Given the description of an element on the screen output the (x, y) to click on. 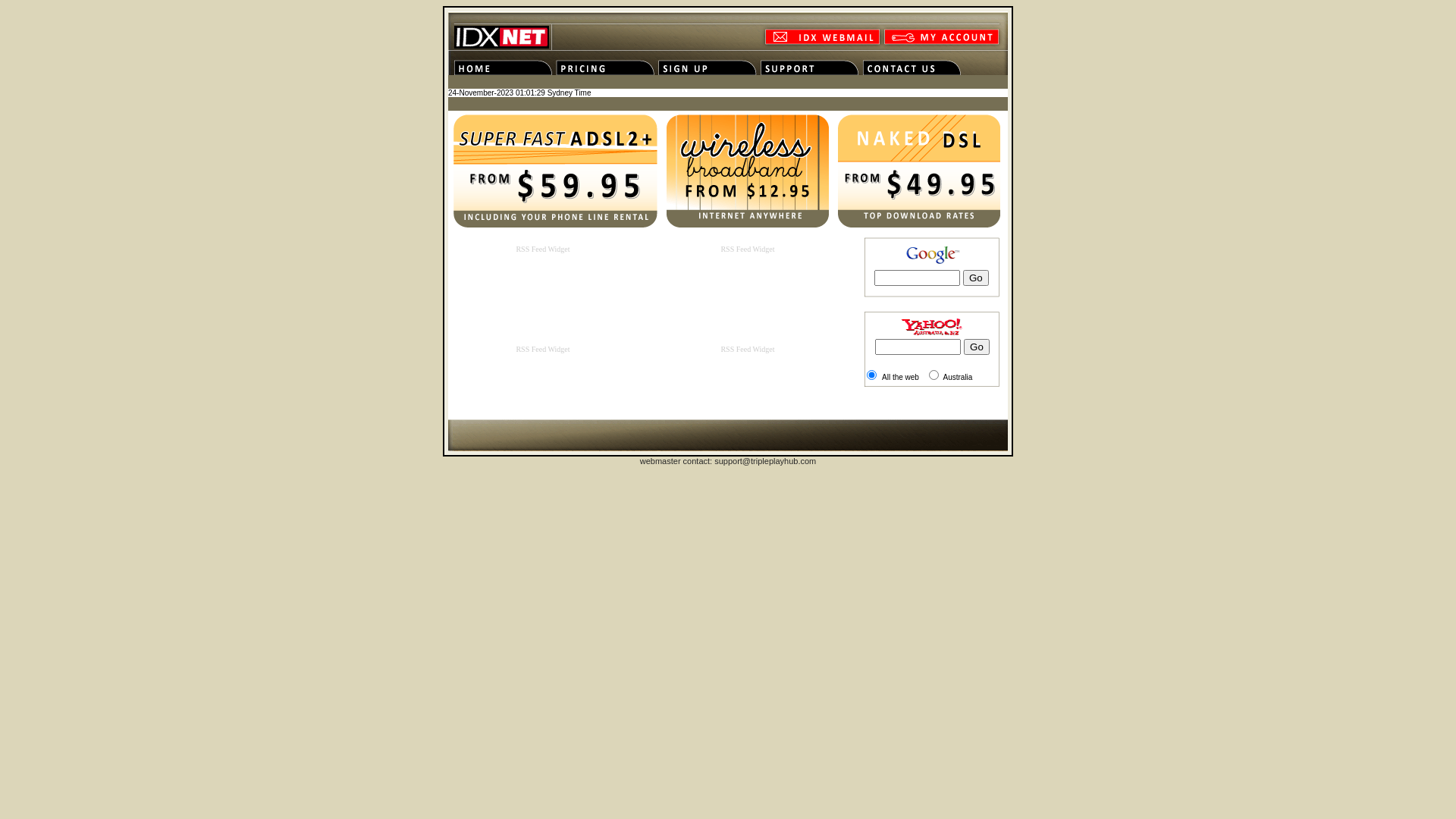
RSS Feed Widget Element type: text (542, 248)
Go Element type: text (975, 277)
Go Element type: text (976, 346)
RSS Feed Widget Element type: text (542, 349)
RSS Feed Widget Element type: text (747, 349)
RSS Feed Widget Element type: text (747, 248)
